Given the description of an element on the screen output the (x, y) to click on. 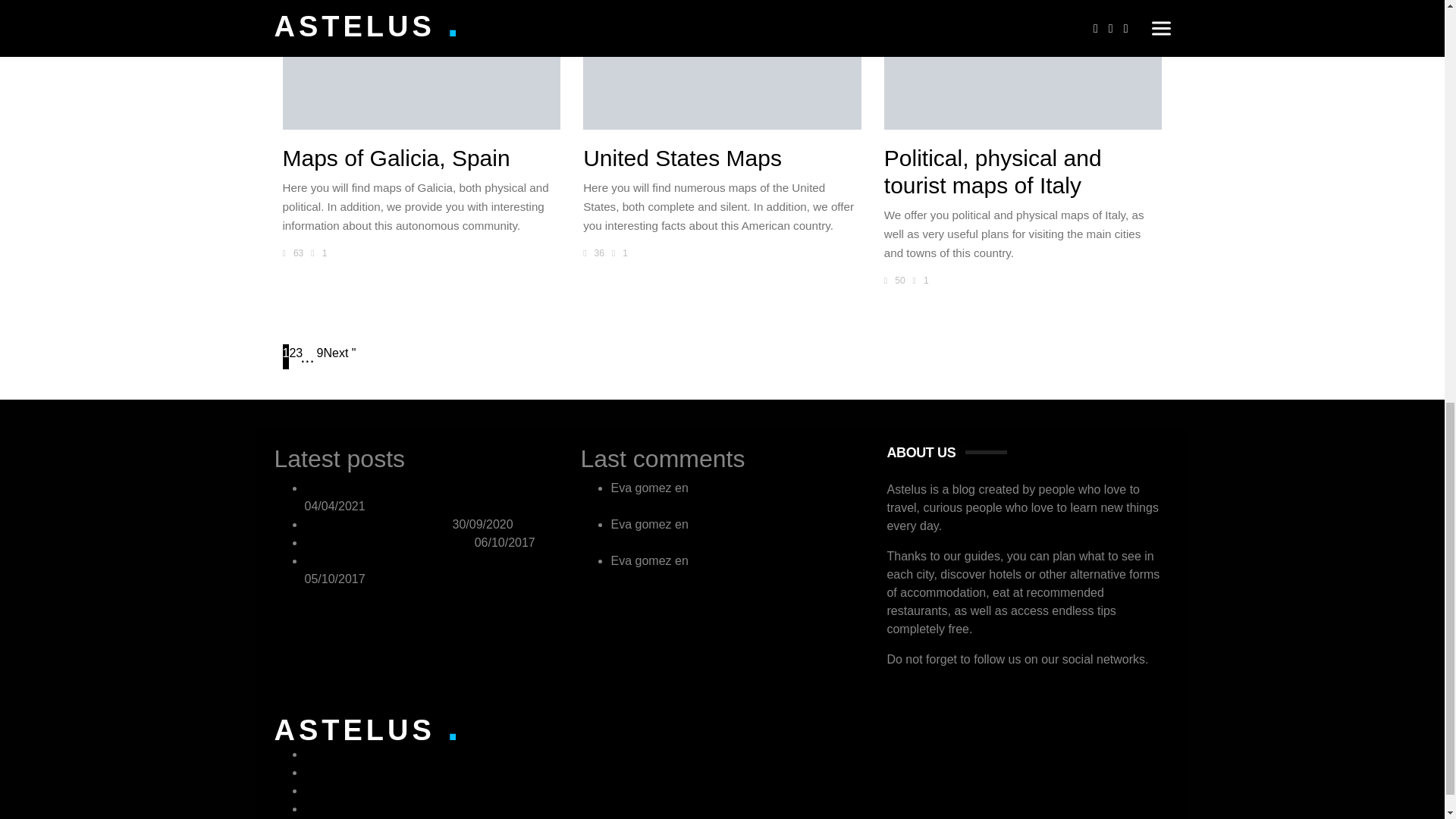
Maps of Galicia, Spain (421, 64)
United States Maps (722, 64)
Political, physical and tourist maps of Italy (1022, 64)
